Given the description of an element on the screen output the (x, y) to click on. 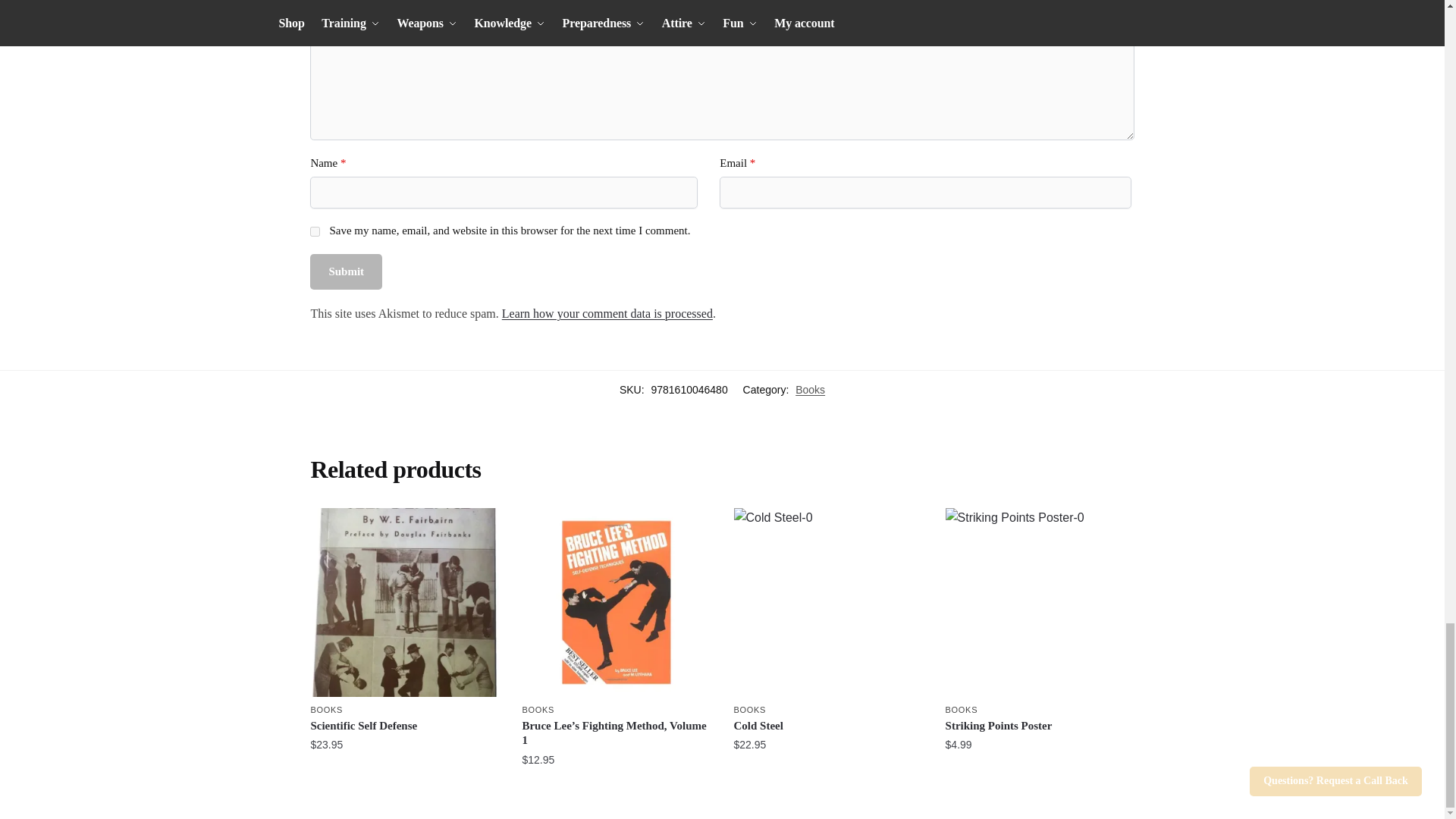
Striking Points Poster (1039, 601)
Submit (345, 271)
Cold Steel (828, 601)
yes (315, 231)
Scientific Self Defense (404, 601)
